Given the description of an element on the screen output the (x, y) to click on. 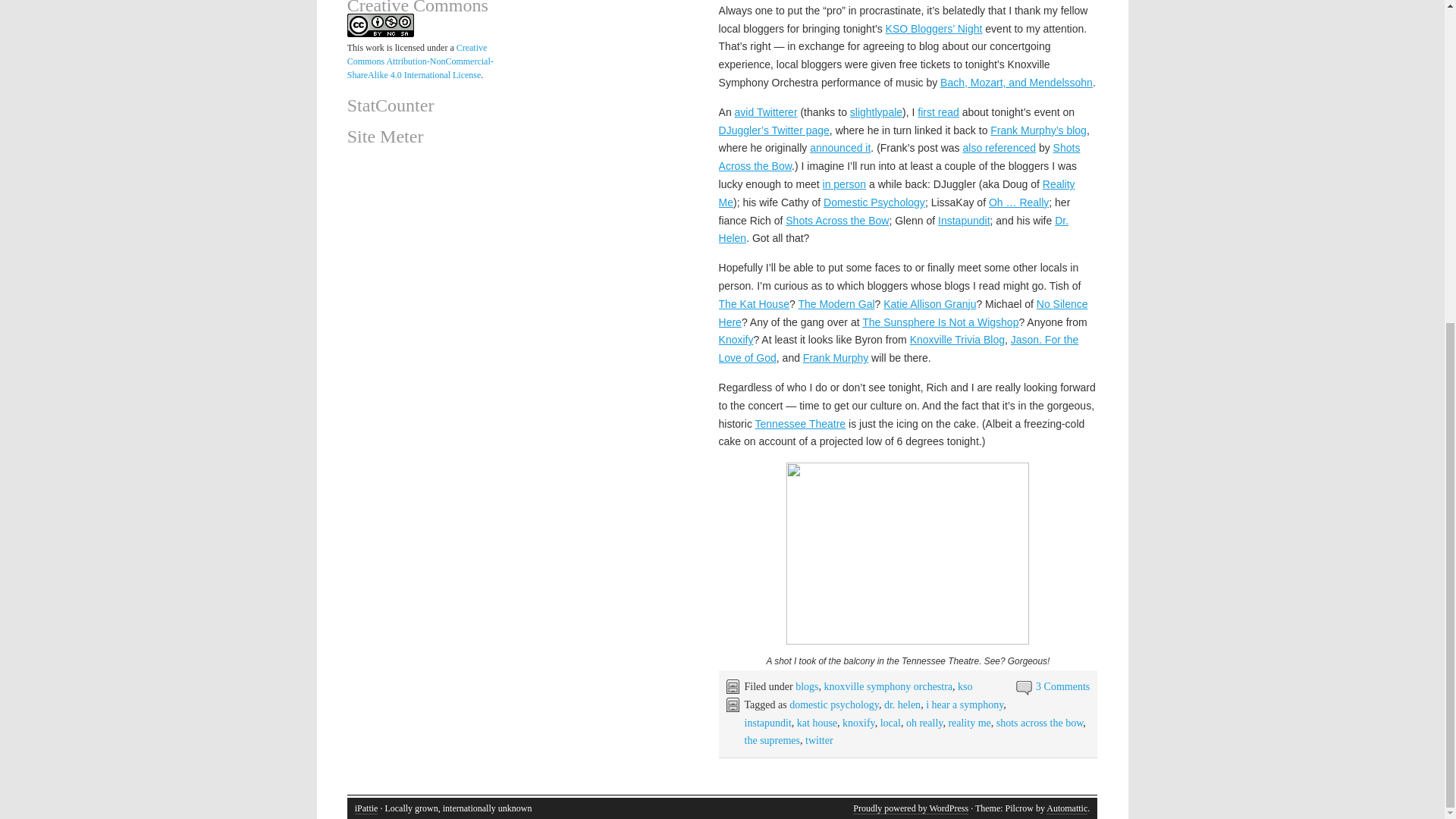
The Kat House (754, 304)
announced it (839, 147)
avid Twitterer (766, 111)
The Sunsphere Is Not a Wigshop (939, 322)
also referenced (998, 147)
Instapundit (963, 220)
blogs (806, 686)
in person (844, 184)
No Silence Here (903, 313)
The Modern Gal (836, 304)
